Given the description of an element on the screen output the (x, y) to click on. 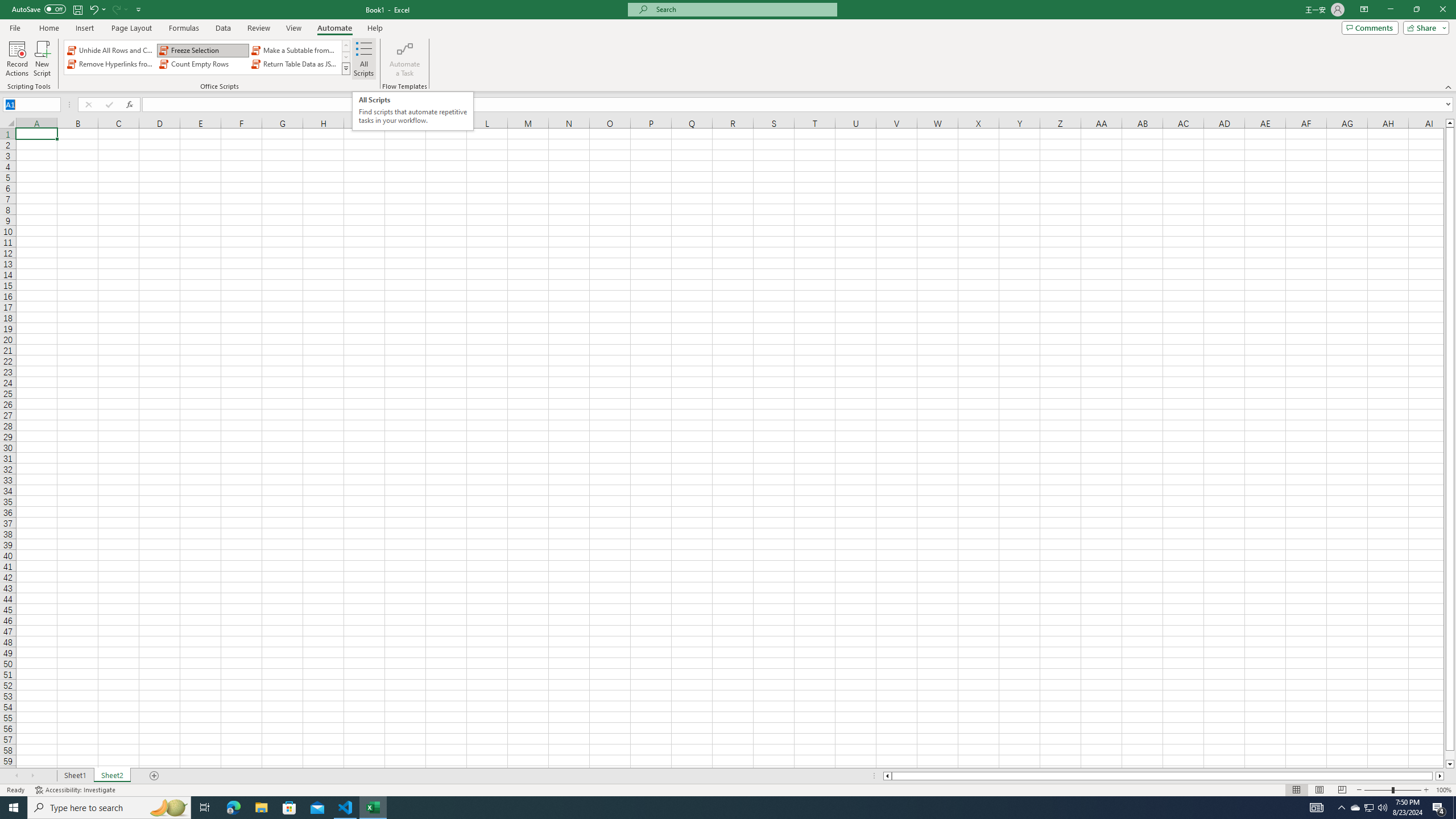
AutomationID: OfficeScriptsGallery (207, 57)
View (293, 28)
Page Layout (1318, 790)
Name Box (30, 104)
System (6, 6)
Column right (1440, 775)
More Options (125, 9)
Column left (886, 775)
Page Break Preview (1342, 790)
New Script (41, 58)
Open (54, 104)
Undo (92, 9)
Redo (115, 9)
Name Box (27, 104)
File Tab (15, 27)
